Given the description of an element on the screen output the (x, y) to click on. 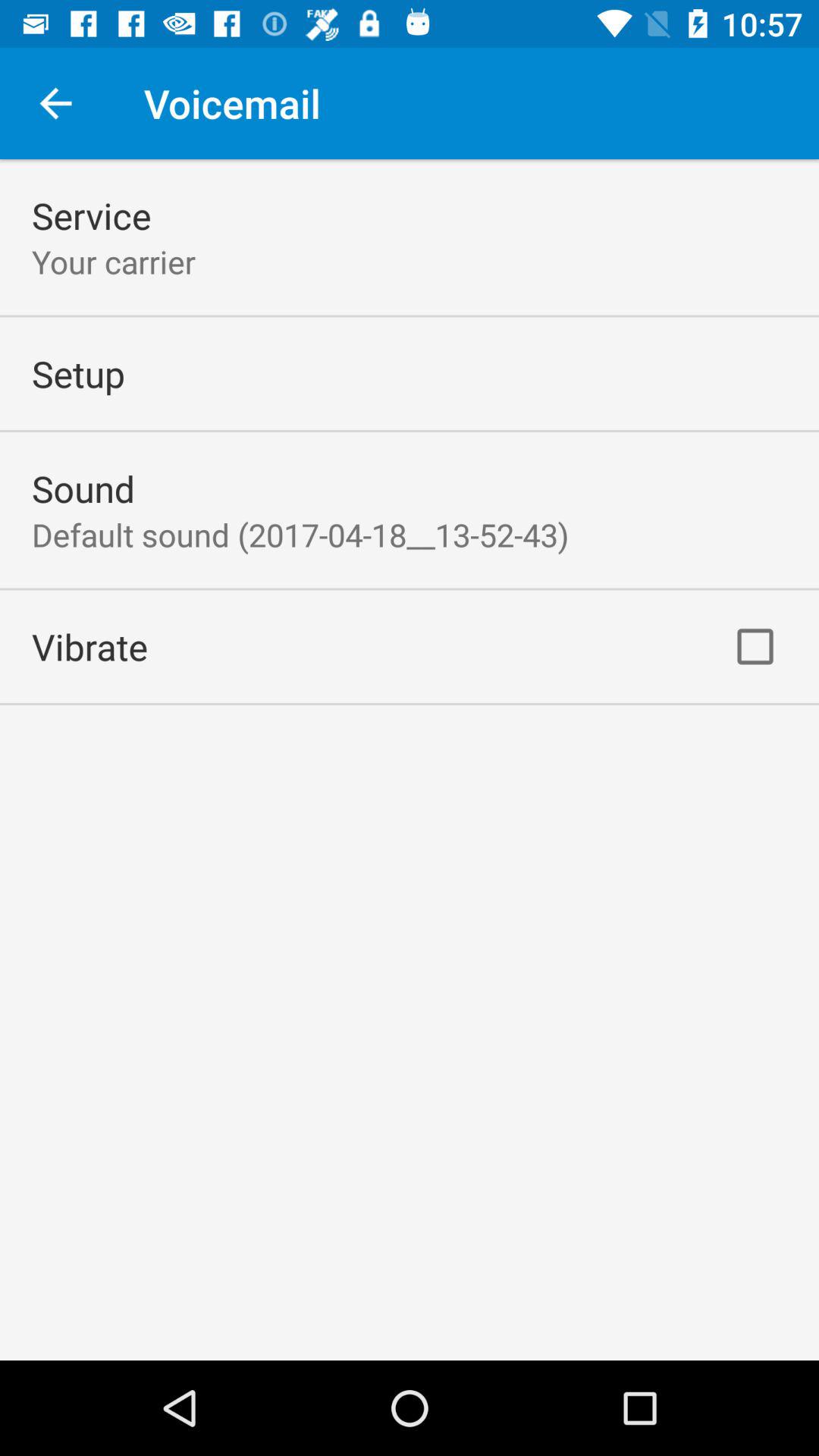
select item at the center (299, 534)
